Given the description of an element on the screen output the (x, y) to click on. 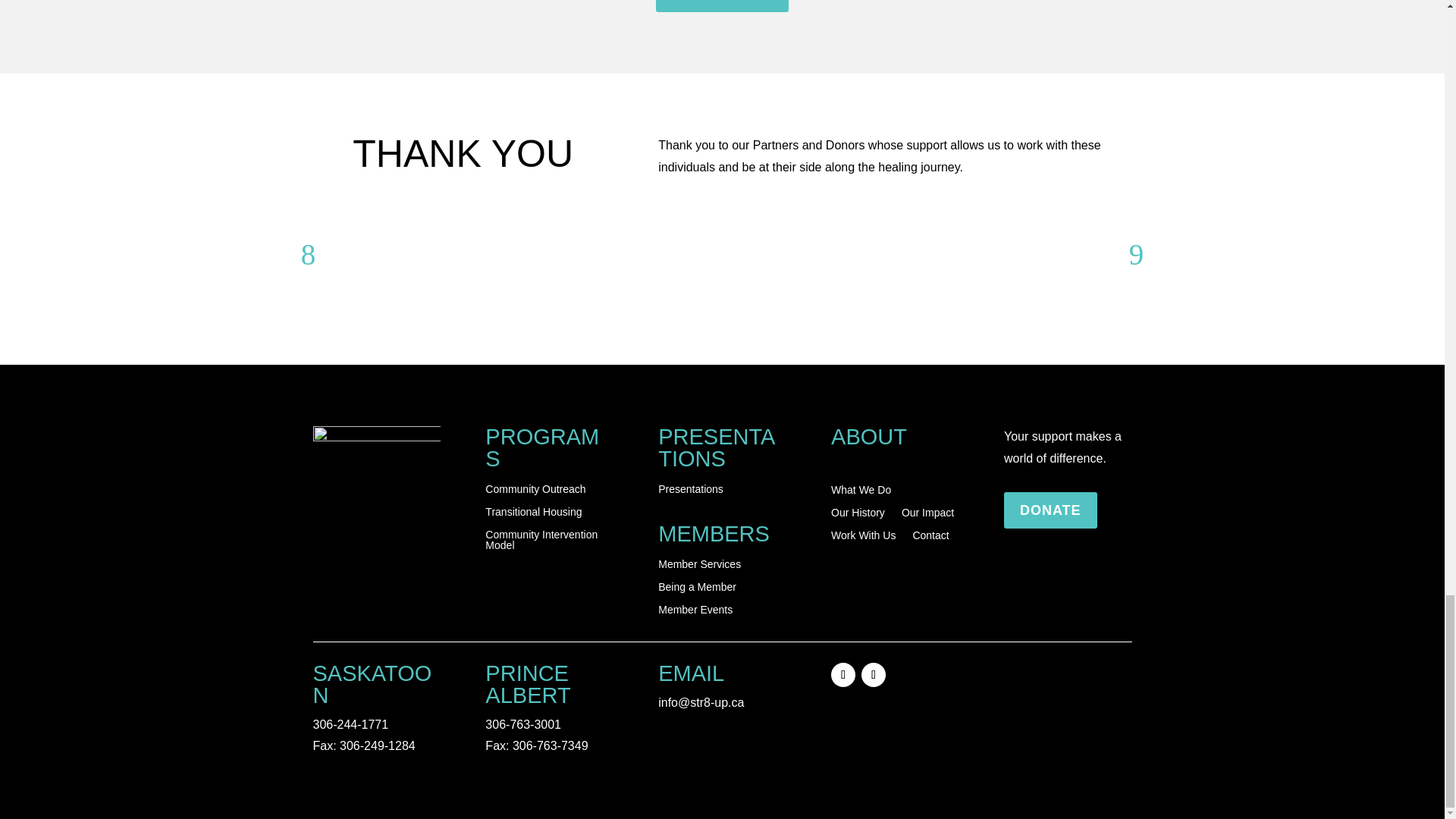
DONATE NOW (722, 6)
Community Outreach (534, 492)
Being a Member (697, 589)
Community Intervention Model (548, 542)
Stacked-Str8Up-Logo-White (376, 474)
Follow on Facebook (843, 674)
Presentations (690, 492)
Transitional Housing (532, 514)
Follow on Instagram (873, 674)
Member Services (699, 566)
